Given the description of an element on the screen output the (x, y) to click on. 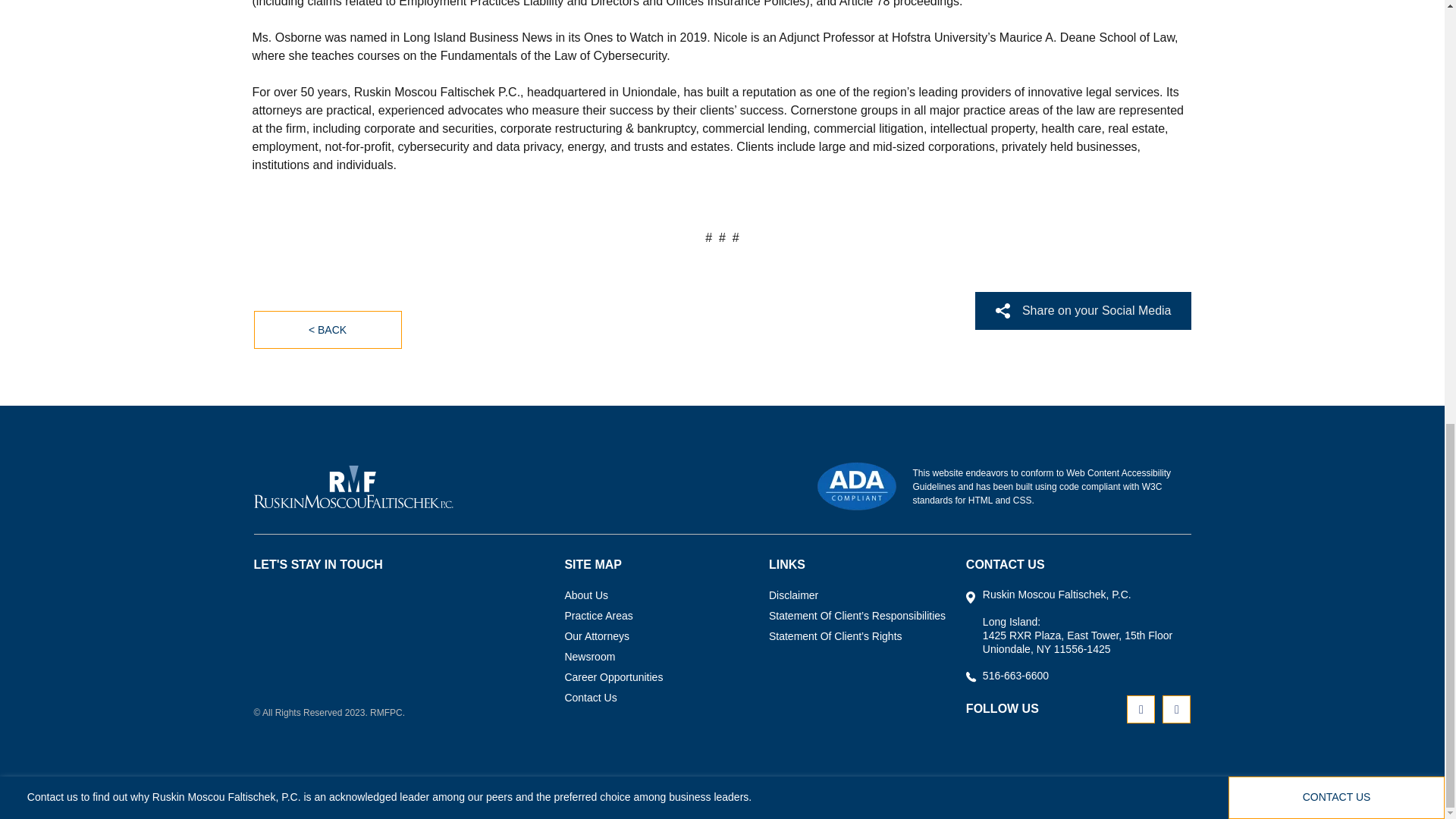
Contact Us (589, 698)
Disclaimer (793, 596)
Practice Areas (597, 616)
Career Opportunities (613, 678)
About Us (586, 596)
Our Attorneys (596, 637)
Newsroom (589, 657)
516-663-6600 (1015, 675)
